Given the description of an element on the screen output the (x, y) to click on. 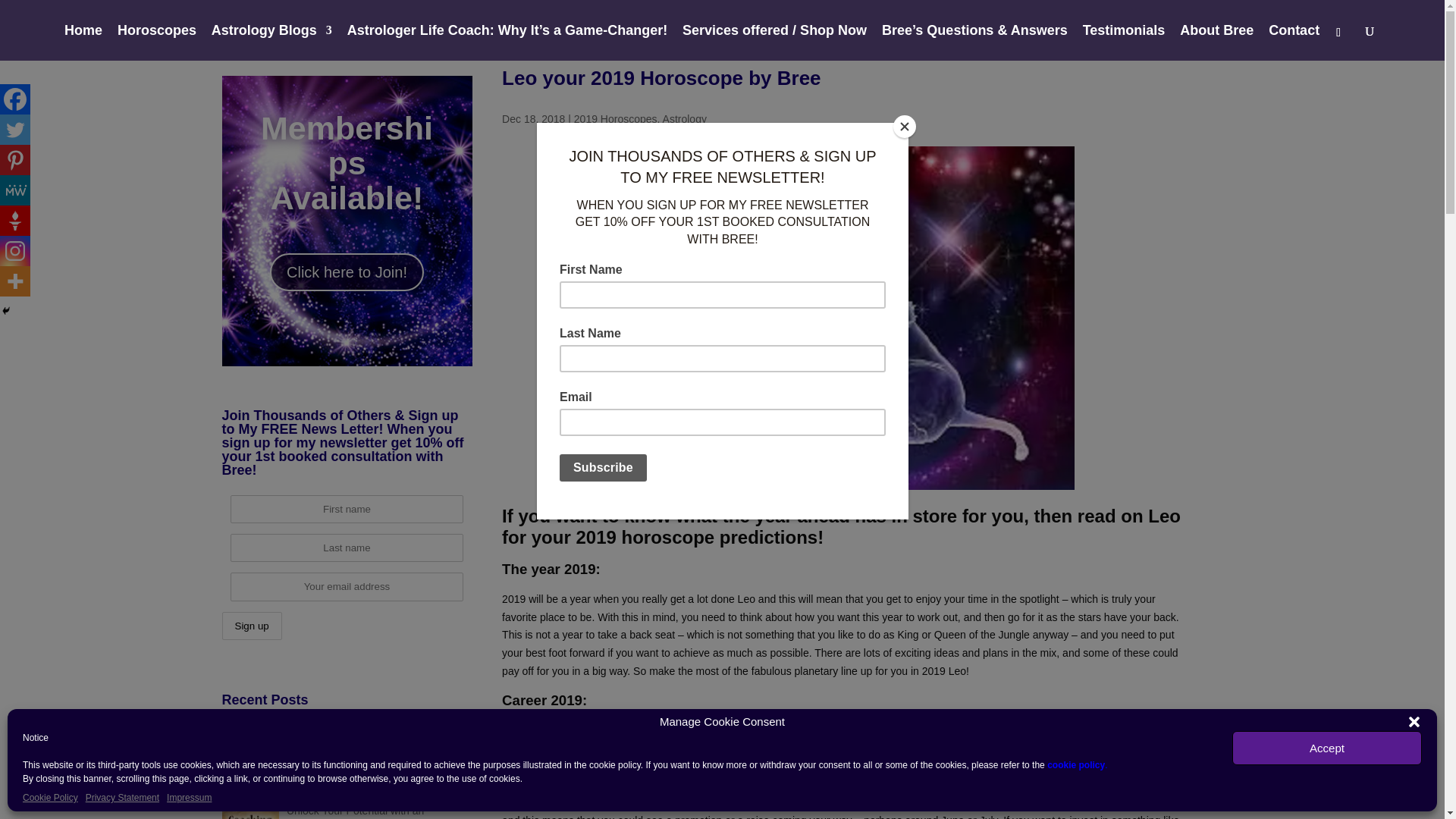
Instagram (15, 250)
cookie policy. (1076, 765)
Cookie Policy (50, 798)
Home (82, 42)
Astrology Blogs (271, 42)
Twitter (15, 129)
Horoscopes (156, 42)
Impressum (189, 798)
Contact (1293, 42)
About Bree (1216, 42)
MeWe (15, 190)
More (15, 281)
Cookie Privacy Policy (1076, 765)
Privacy Statement (121, 798)
